Given the description of an element on the screen output the (x, y) to click on. 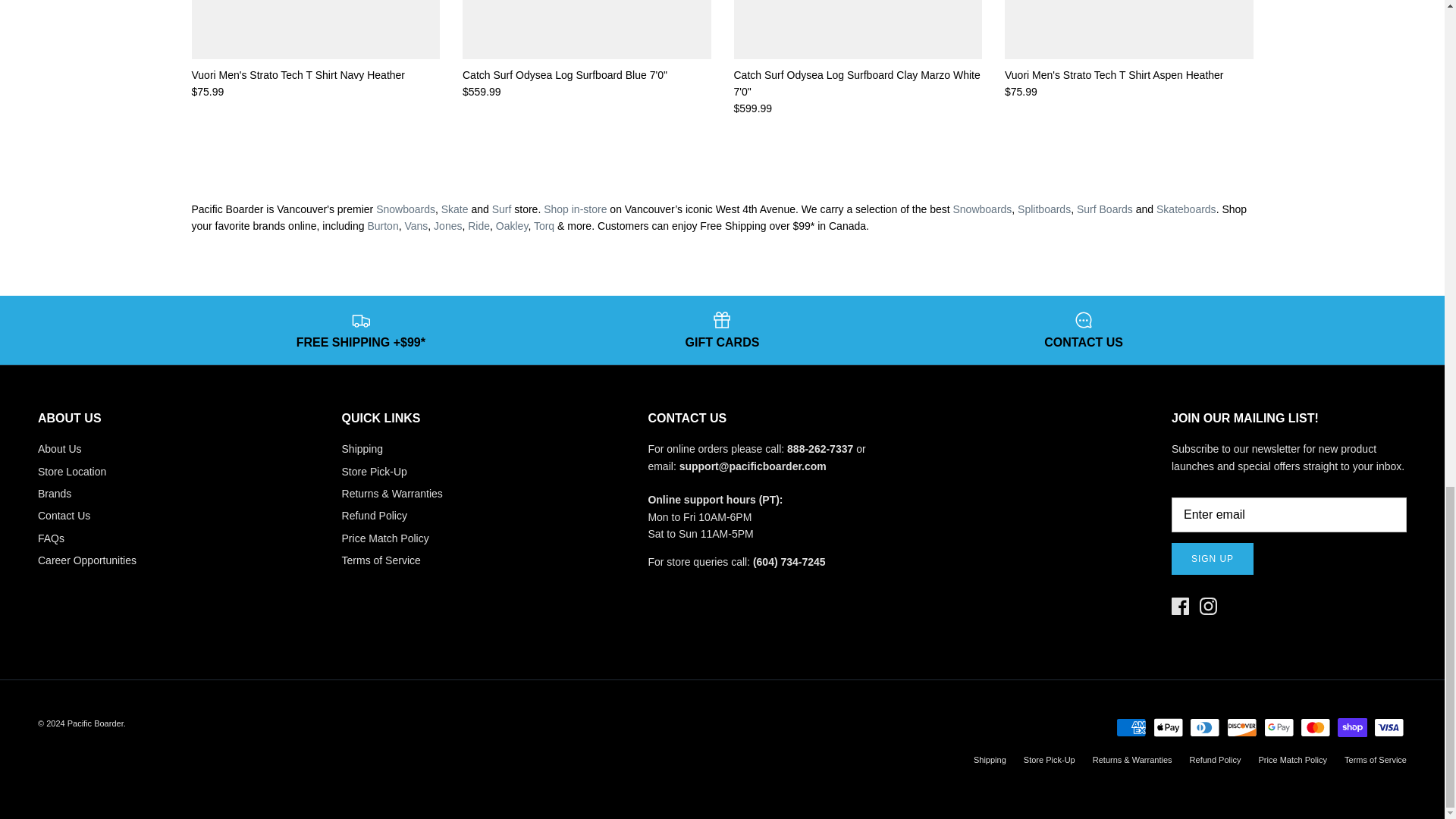
Google Pay (1277, 727)
Diners Club (1204, 727)
Mastercard (1315, 727)
Facebook (1180, 606)
Instagram (1208, 606)
tel:888-262-733 (820, 449)
American Express (1130, 727)
Apple Pay (1168, 727)
Discover (1241, 727)
